Given the description of an element on the screen output the (x, y) to click on. 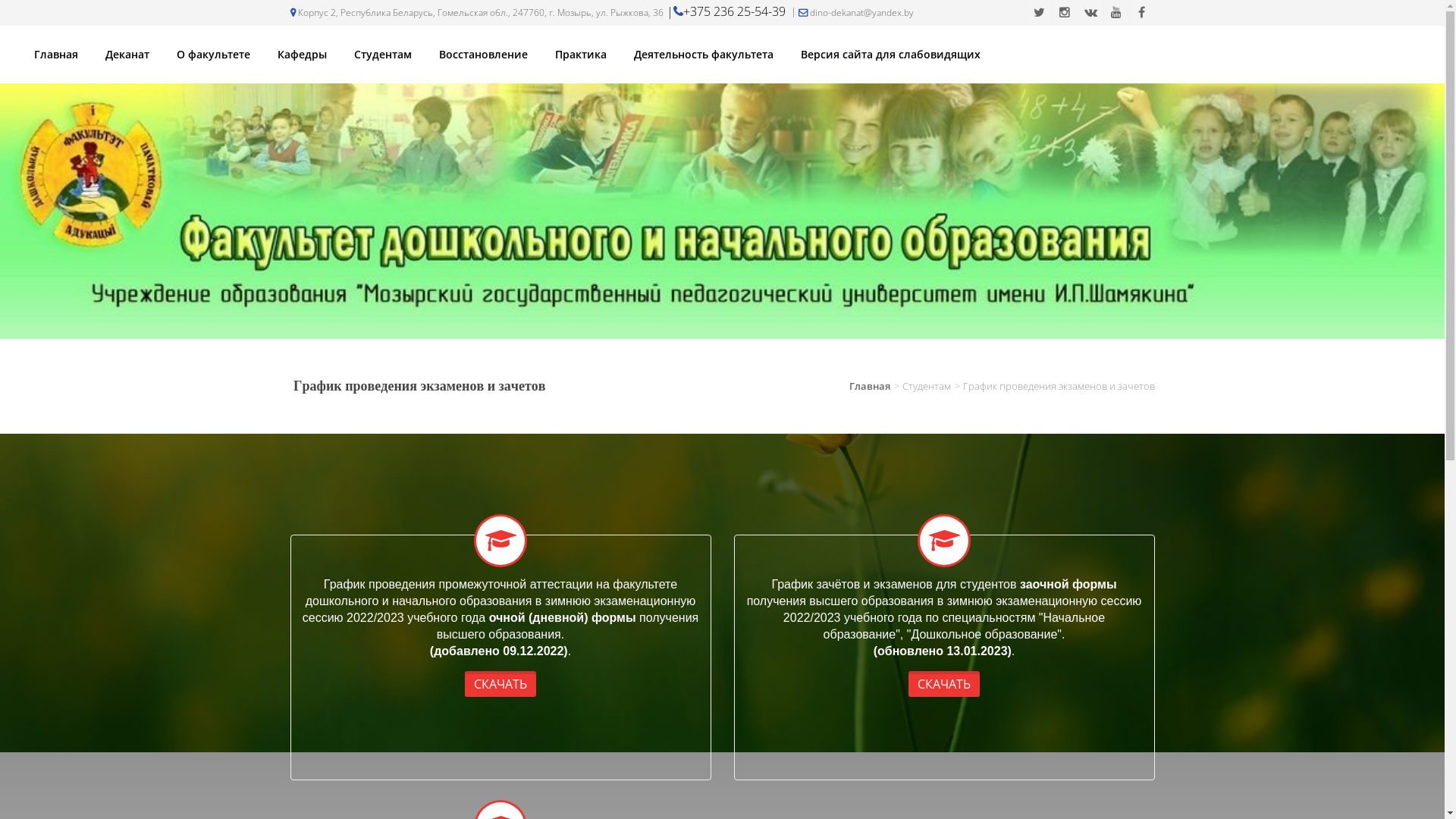
dino-dekanat@yandex.by Element type: text (850, 12)
